Given the description of an element on the screen output the (x, y) to click on. 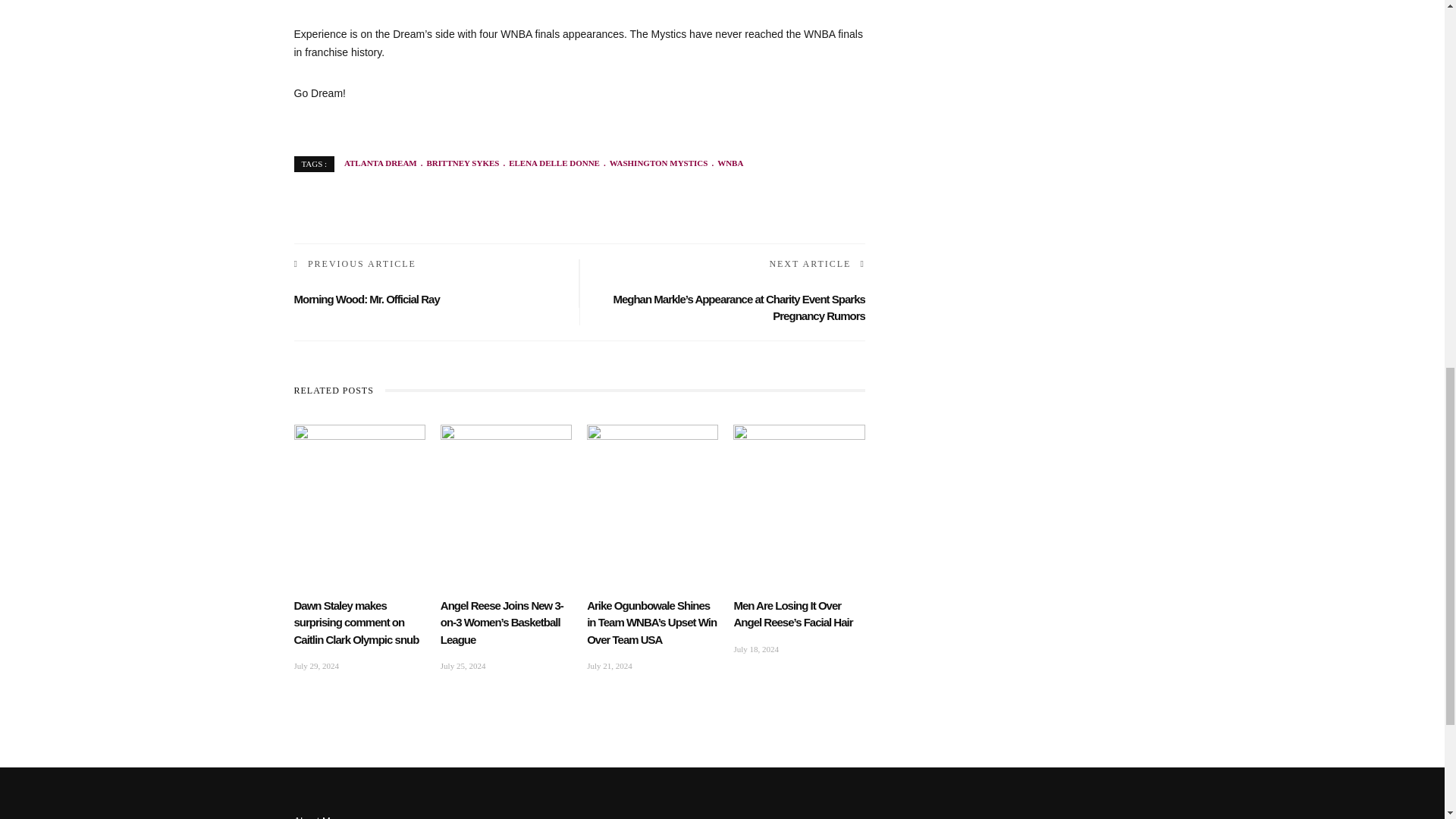
WASHINGTON MYSTICS (653, 162)
ELENA DELLE DONNE (549, 162)
BRITTNEY SYKES (457, 162)
ATLANTA DREAM (379, 162)
Morning Wood: Mr. Official Ray (366, 298)
WNBA (724, 162)
